Given the description of an element on the screen output the (x, y) to click on. 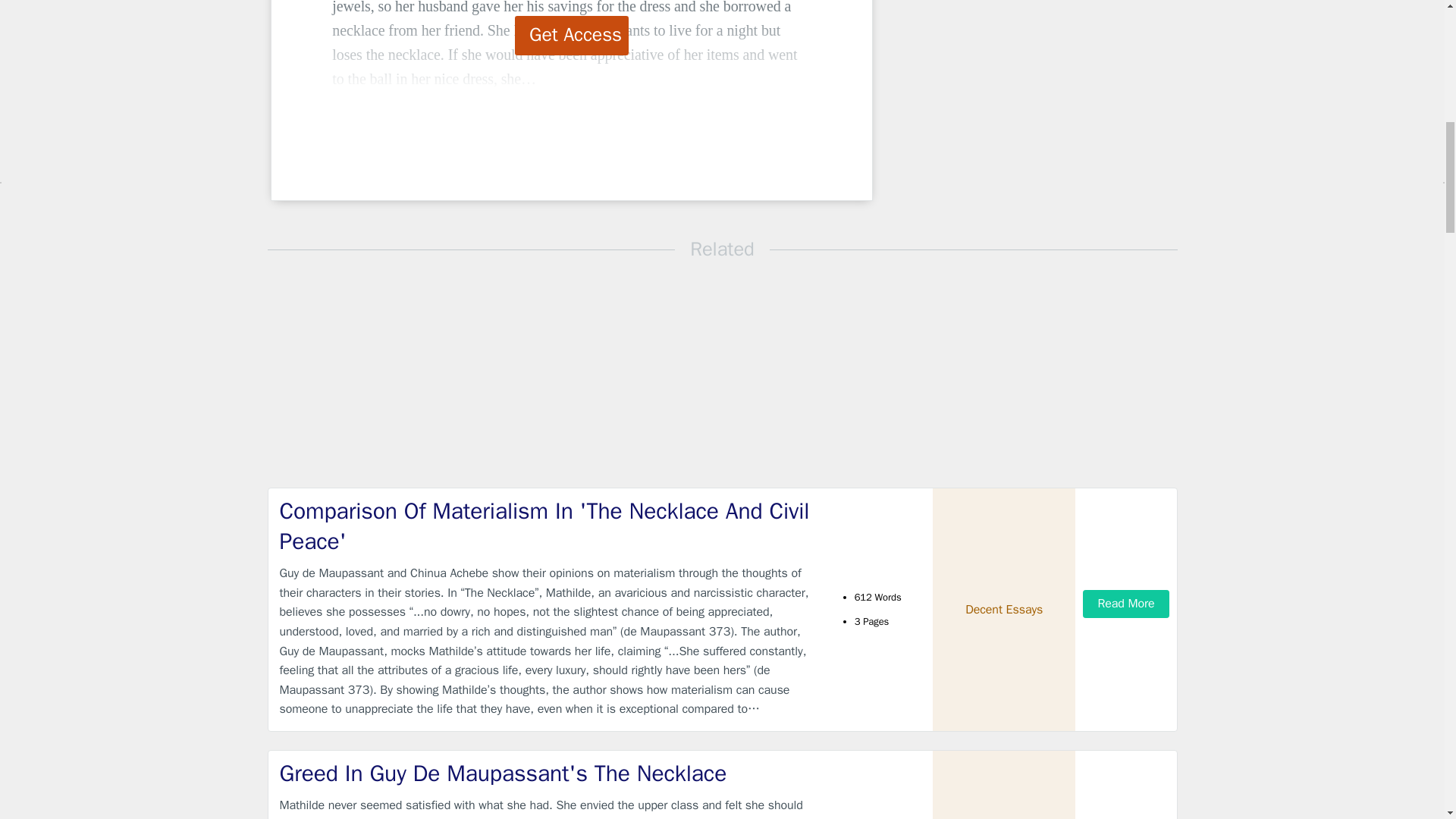
Greed In Guy De Maupassant's The Necklace (548, 773)
Get Access (571, 35)
Read More (1126, 603)
Comparison Of Materialism In 'The Necklace And Civil Peace' (548, 526)
